Given the description of an element on the screen output the (x, y) to click on. 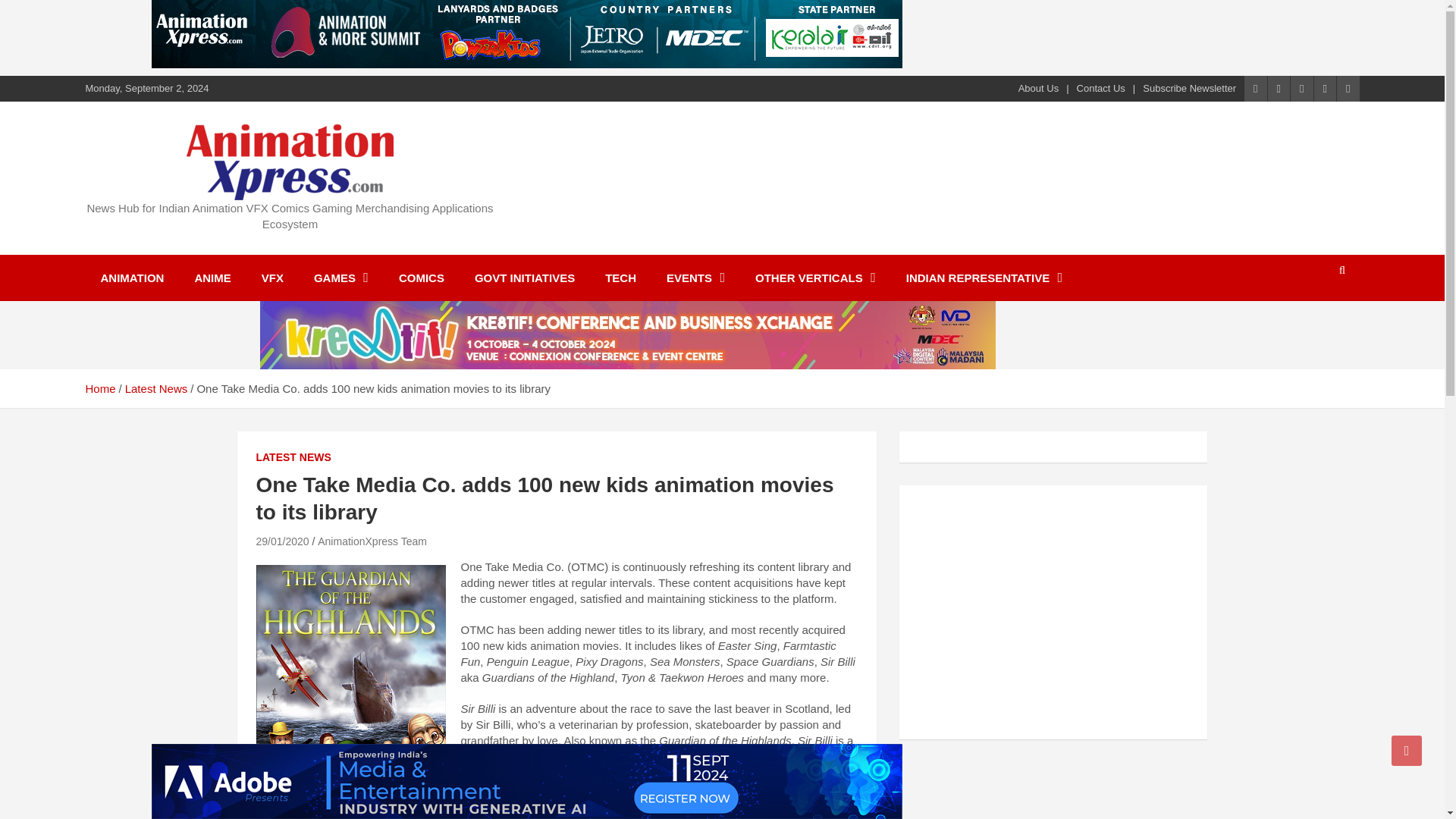
EVENTS (694, 277)
COMICS (422, 277)
Go to Top (1406, 750)
Subscribe Newsletter (1189, 88)
About Us (1037, 88)
VFX (272, 277)
ANIMATION (131, 277)
YouTube video player (1024, 609)
TECH (619, 277)
